Given the description of an element on the screen output the (x, y) to click on. 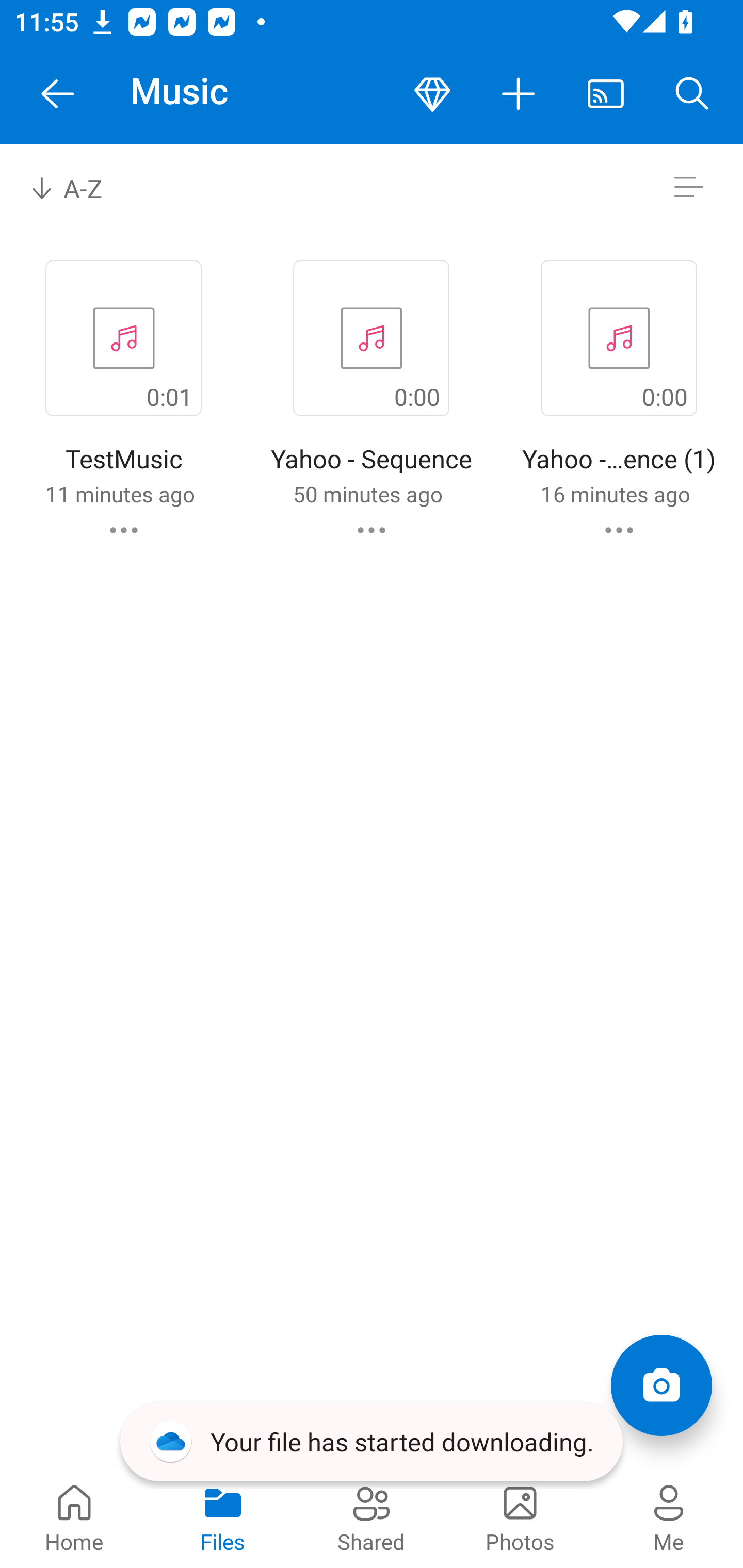
Navigate Up (57, 93)
Cast. Disconnected (605, 93)
Premium button (432, 93)
More actions button (518, 93)
Search button (692, 93)
A-Z Sort by combo box, sort by name, A to Z (80, 187)
Switch to list view (688, 187)
11 minutes ago (119, 493)
50 minutes ago (367, 493)
16 minutes ago (615, 493)
TestMusic commands (123, 529)
Yahoo - Sequence commands (371, 529)
Yahoo - Sequence (1) commands (618, 529)
Add items Scan (660, 1385)
Home pivot Home (74, 1517)
Shared pivot Shared (371, 1517)
Photos pivot Photos (519, 1517)
Me pivot Me (668, 1517)
